Given the description of an element on the screen output the (x, y) to click on. 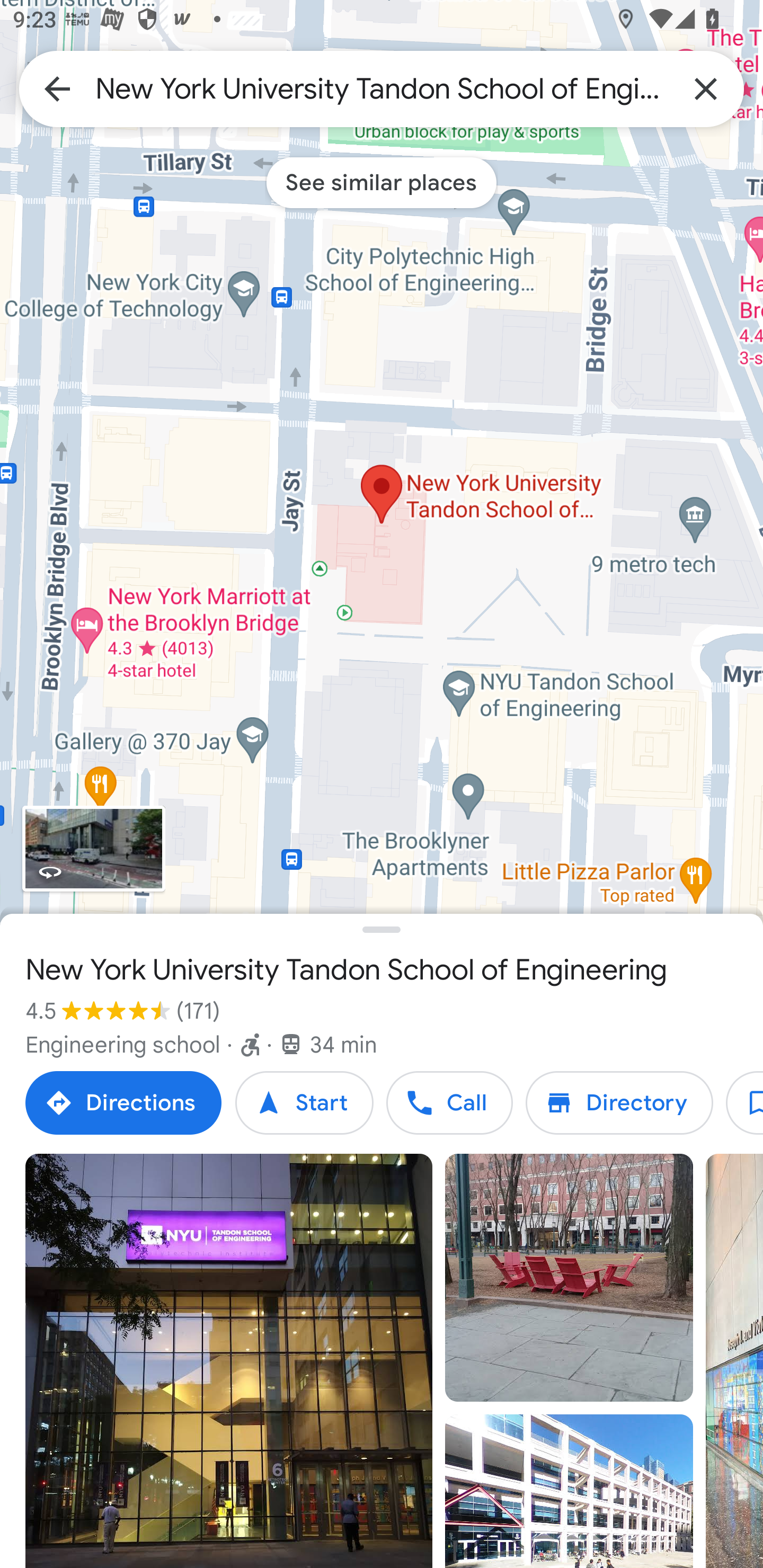
Back (57, 88)
Clear (705, 88)
See similar places (381, 182)
Start Start Start (304, 1102)
Directory Directory Directory (619, 1102)
Photo (228, 1361)
Photo (568, 1277)
Photo (568, 1491)
